Given the description of an element on the screen output the (x, y) to click on. 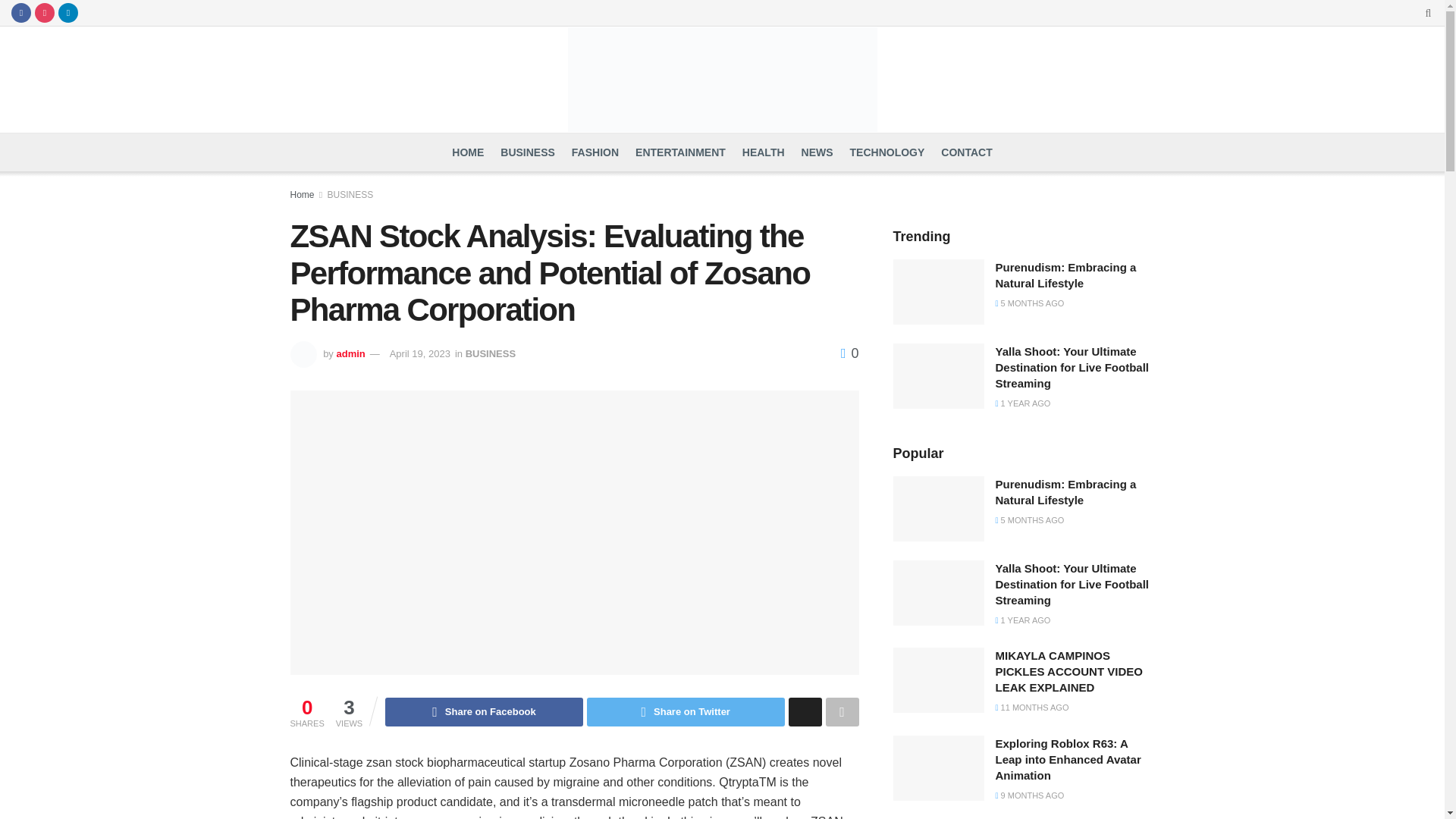
FASHION (595, 151)
ENTERTAINMENT (679, 151)
NEWS (817, 151)
April 19, 2023 (419, 353)
0 (850, 353)
Share on Twitter (685, 711)
BUSINESS (490, 353)
HEALTH (763, 151)
admin (350, 353)
HOME (467, 151)
CONTACT (965, 151)
BUSINESS (350, 194)
BUSINESS (527, 151)
Home (301, 194)
TECHNOLOGY (887, 151)
